Given the description of an element on the screen output the (x, y) to click on. 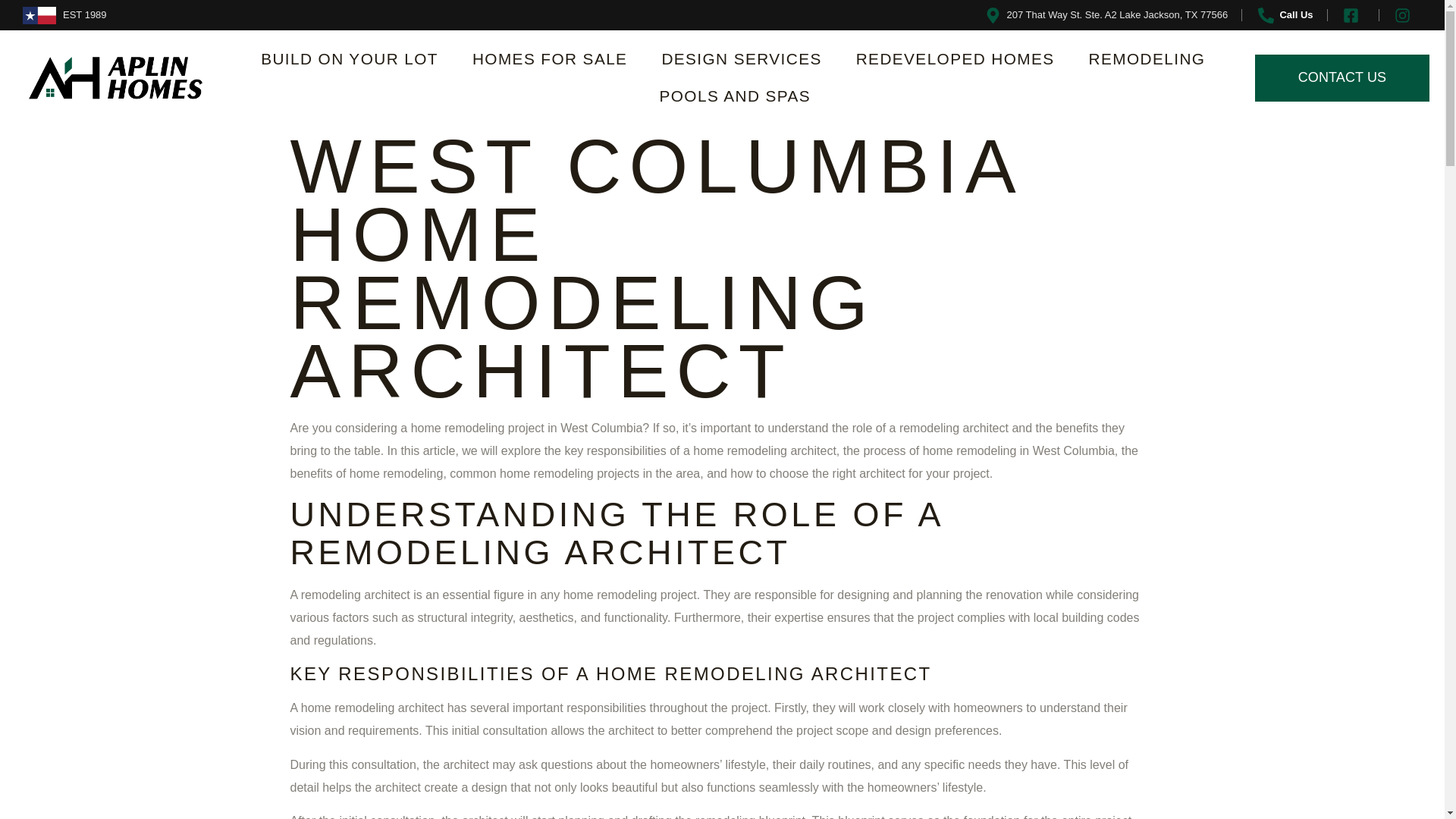
REDEVELOPED HOMES (955, 58)
Call Us (1284, 15)
DESIGN SERVICES (740, 58)
HOMES FOR SALE (550, 58)
REMODELING (1147, 58)
BUILD ON YOUR LOT (349, 58)
POOLS AND SPAS (736, 96)
CONTACT US (1342, 77)
